Given the description of an element on the screen output the (x, y) to click on. 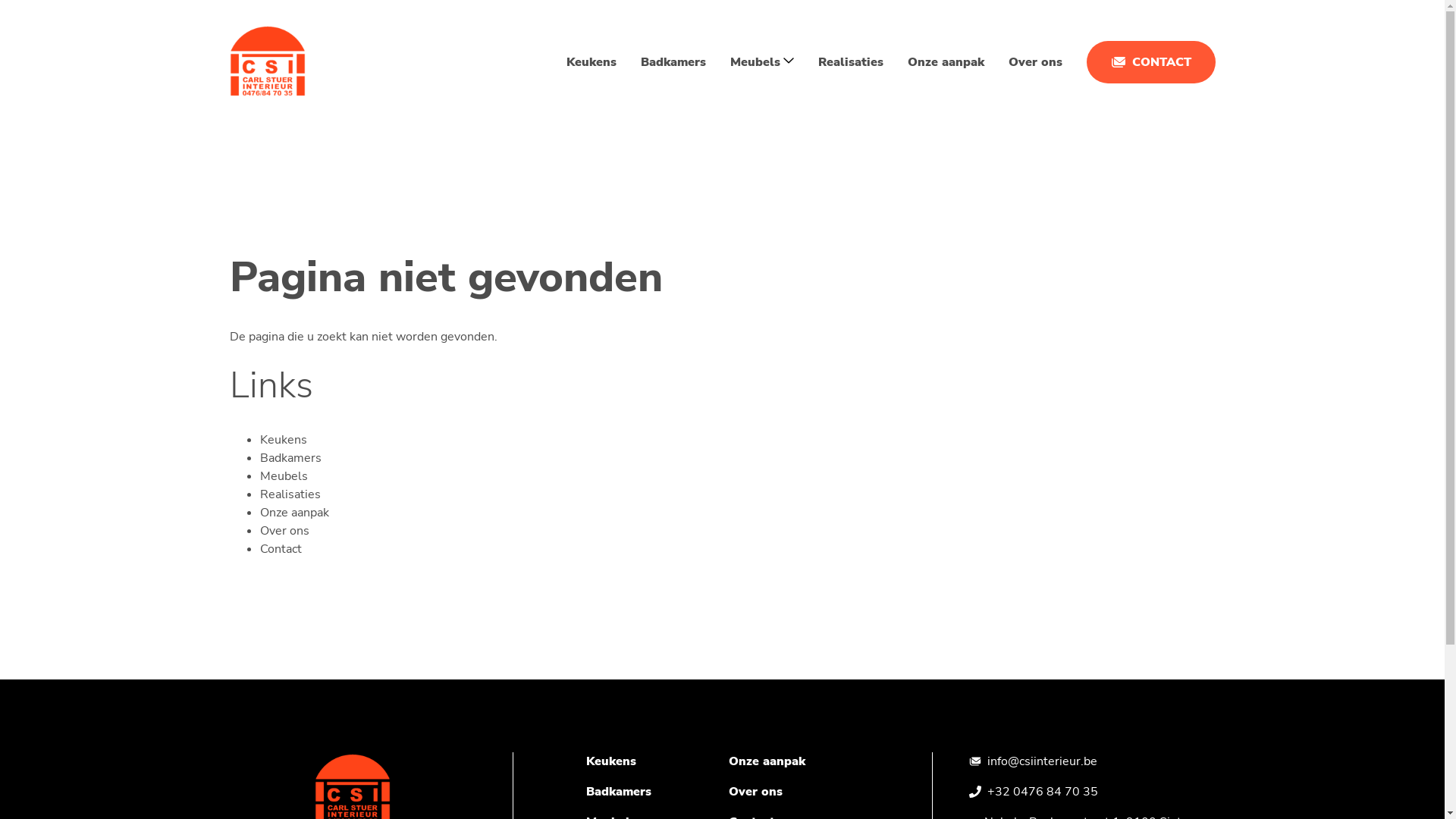
Onze aanpak Element type: text (293, 512)
Keukens Element type: text (610, 761)
CONTACT Element type: text (1149, 61)
Meubels Element type: text (283, 475)
Badkamers Element type: text (289, 457)
Realisaties Element type: text (289, 494)
Badkamers Element type: text (617, 791)
Badkamers Element type: text (672, 62)
Onze aanpak Element type: text (766, 761)
Onze aanpak Element type: text (944, 62)
Keukens Element type: text (282, 439)
Over ons Element type: text (1035, 62)
info@csiinterieur.be Element type: text (1042, 761)
+32 0476 84 70 35 Element type: text (1042, 791)
Over ons Element type: text (754, 791)
Keukens Element type: text (590, 62)
Contact Element type: text (280, 548)
Realisaties Element type: text (849, 62)
Over ons Element type: text (283, 530)
